Given the description of an element on the screen output the (x, y) to click on. 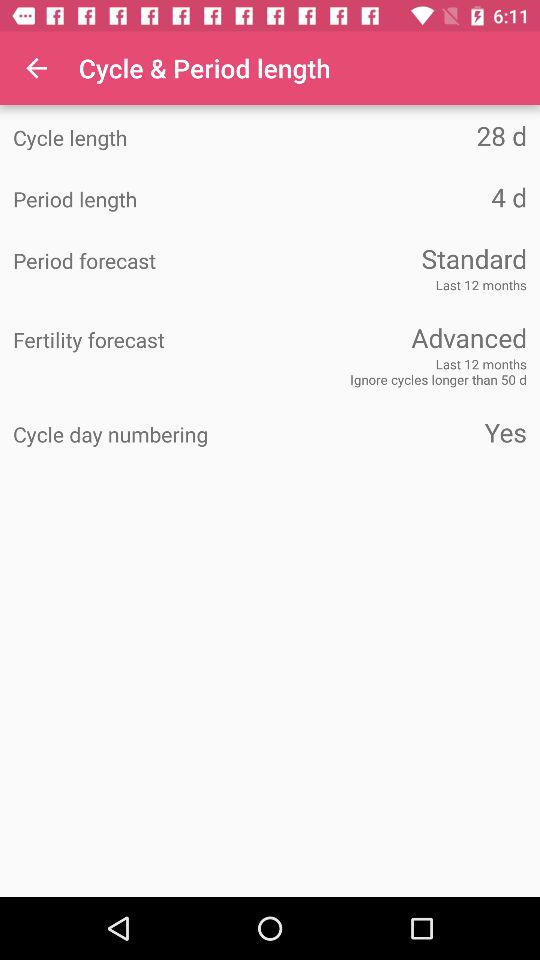
choose the icon next to the standard (141, 261)
